Given the description of an element on the screen output the (x, y) to click on. 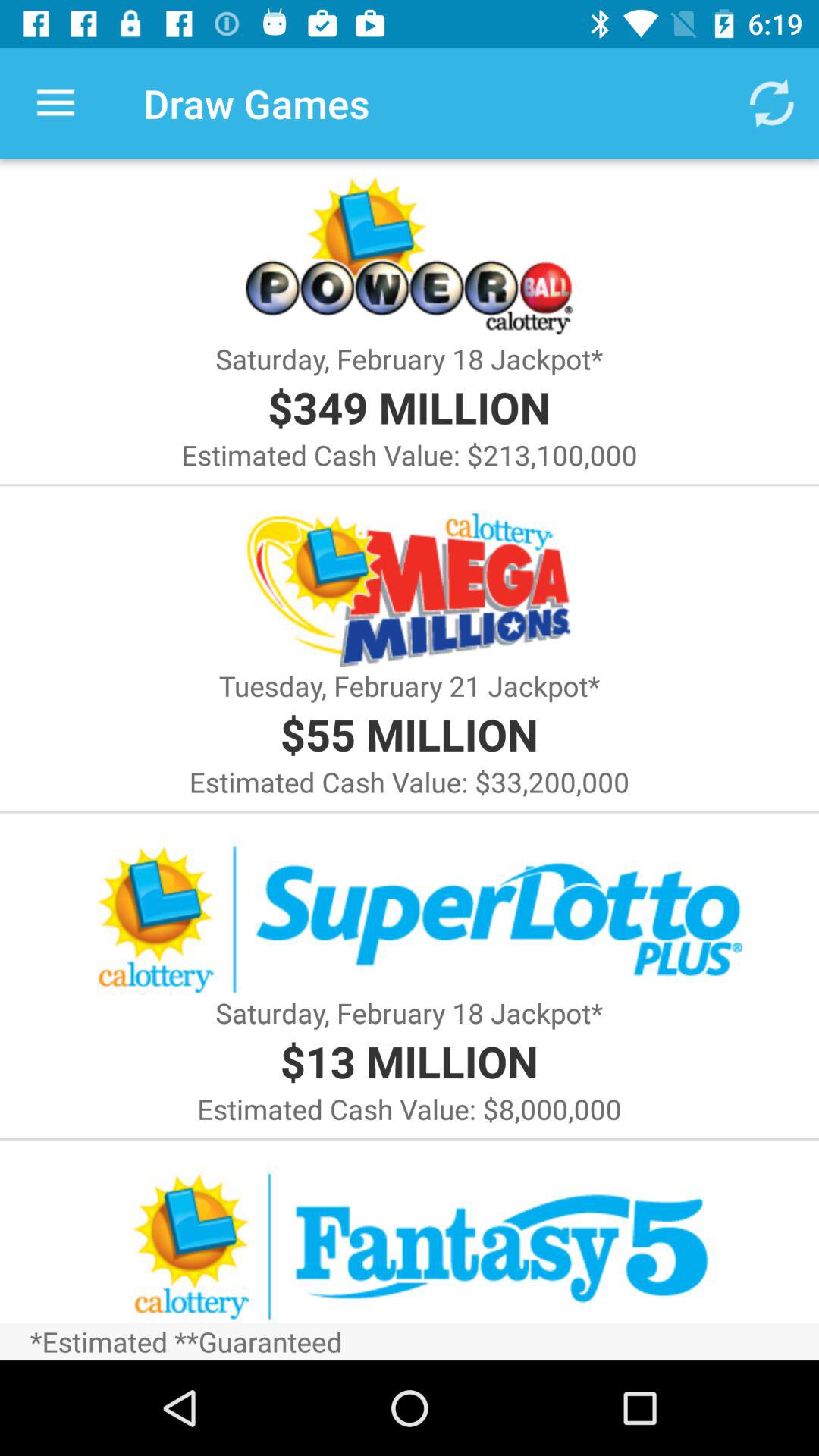
open the item above the estimated cash value (409, 1060)
